Given the description of an element on the screen output the (x, y) to click on. 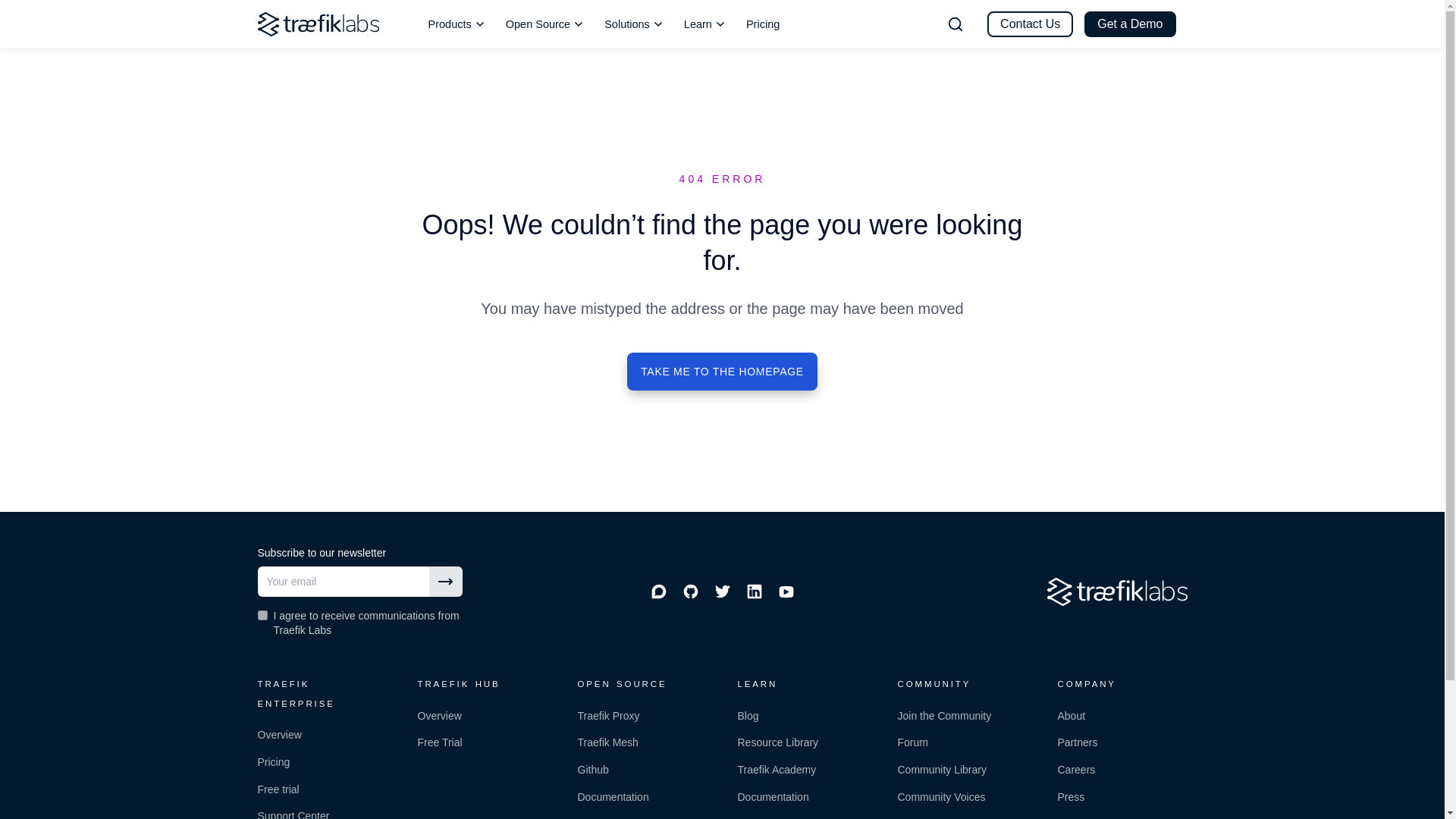
Solutions (633, 24)
Open Source (545, 24)
Products (456, 24)
